Given the description of an element on the screen output the (x, y) to click on. 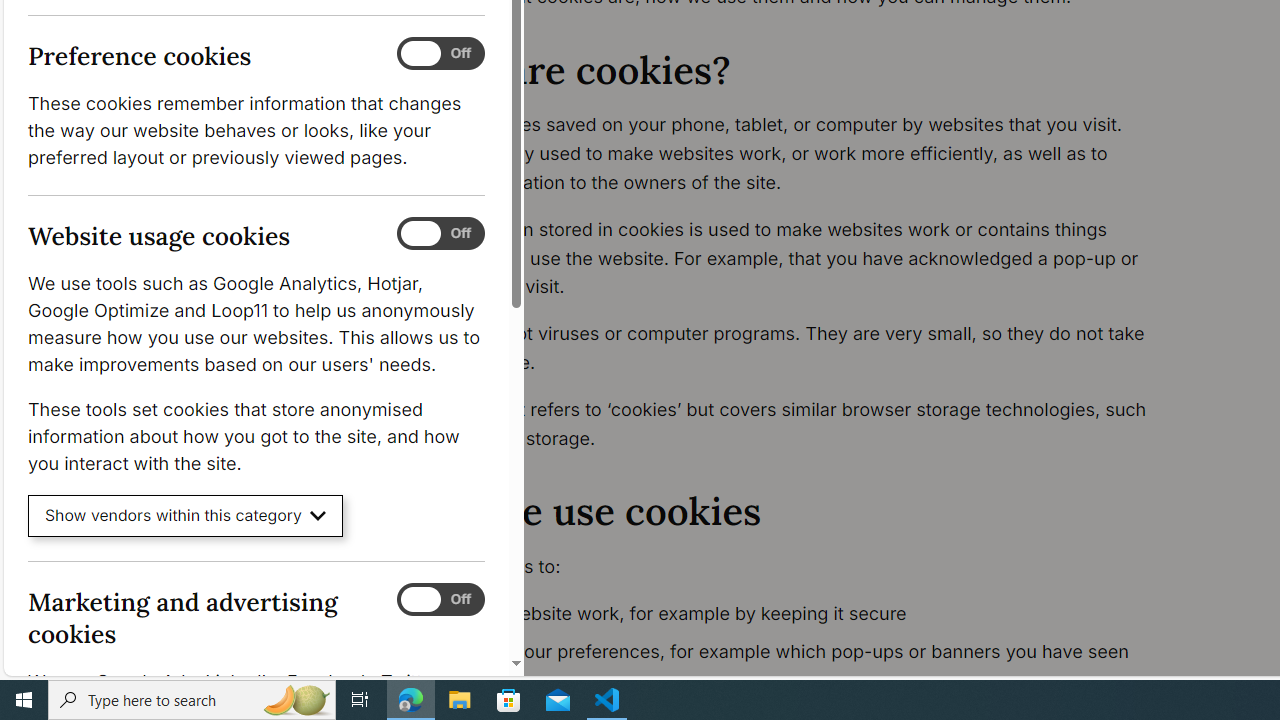
Preference cookies (440, 53)
Website usage cookies (440, 233)
make our website work, for example by keeping it secure (796, 614)
Marketing and advertising cookies (440, 599)
Show vendors within this category (185, 516)
